Given the description of an element on the screen output the (x, y) to click on. 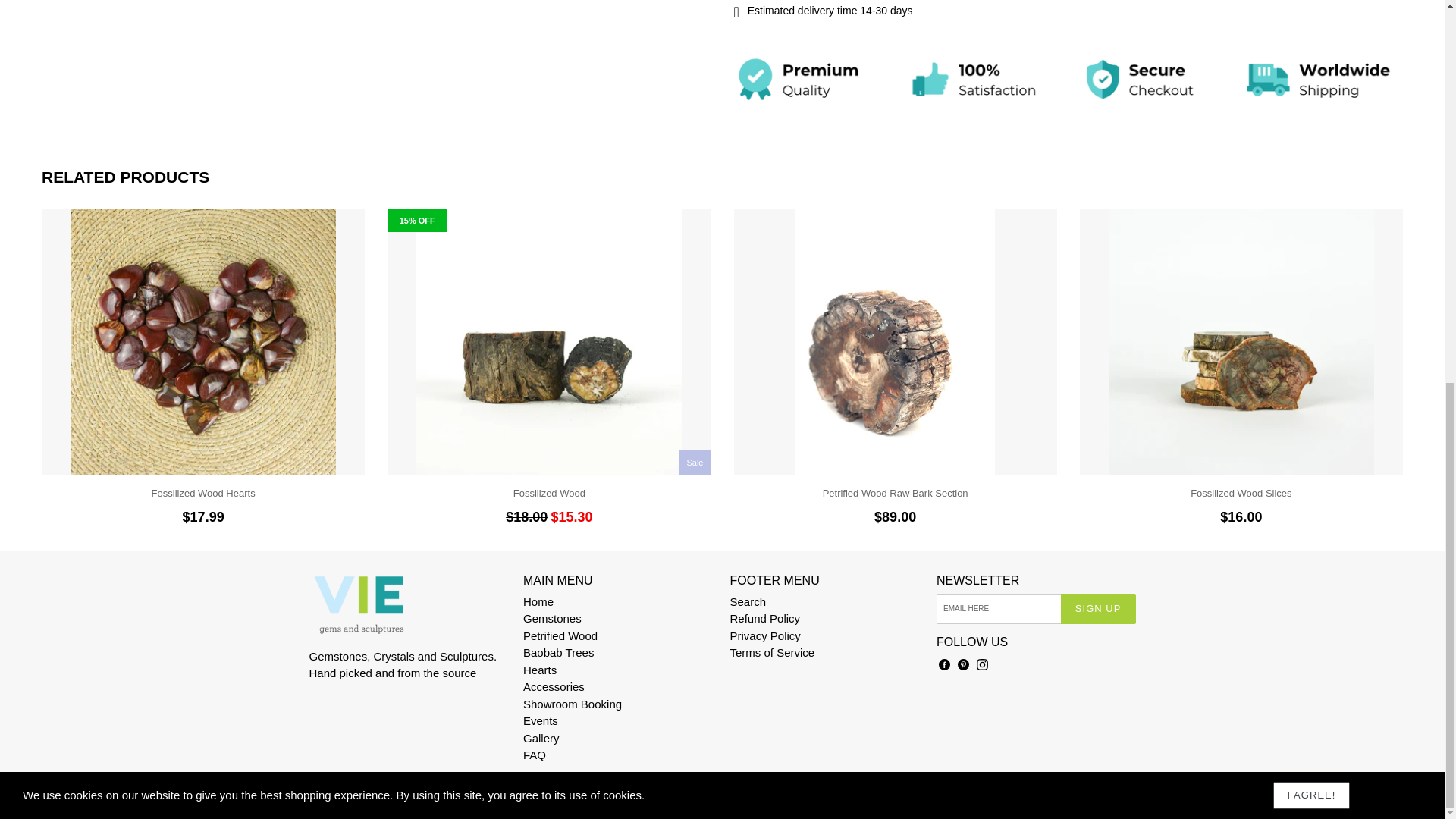
Vie Gems and Sculptures on Pinterest (963, 663)
Vie Gems and Sculptures on Facebook (944, 663)
Vie Gems and Sculptures on Instagram (982, 663)
